Given the description of an element on the screen output the (x, y) to click on. 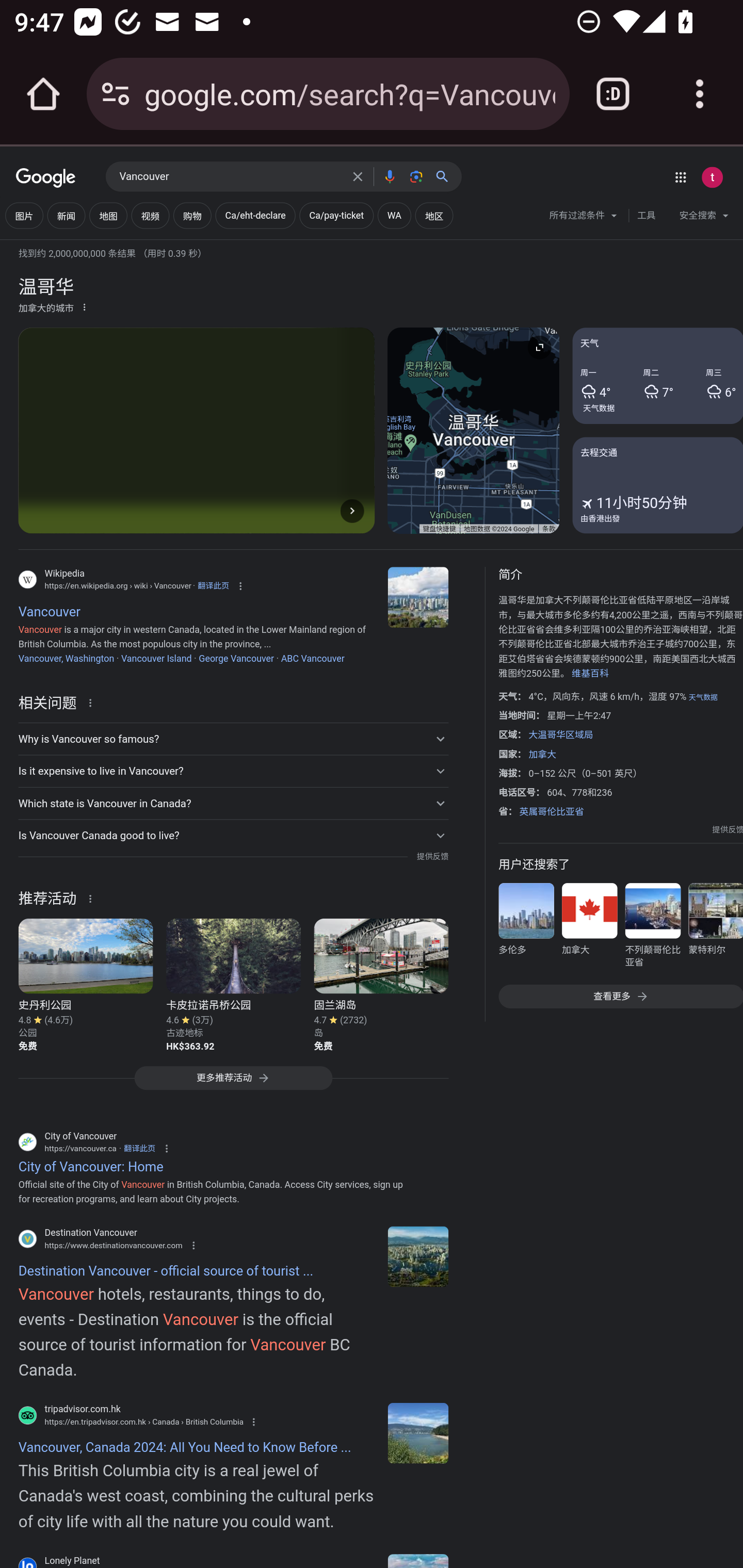
Open the home page (43, 93)
Connection is secure (115, 93)
Switch or close tabs (612, 93)
Customize and control Google Chrome (699, 93)
清除 (357, 176)
按语音搜索 (389, 176)
按图搜索 (415, 176)
搜索 (446, 176)
Google 应用 (680, 176)
Google 账号： test appium (testappium002@gmail.com) (712, 176)
Google (45, 178)
Vancouver (229, 177)
图片 (24, 215)
新闻 (65, 215)
地图 (107, 215)
视频 (149, 215)
购物 (191, 215)
添加“Ca/eht-declare” Ca/eht-declare (254, 215)
添加“Ca/pay-ticket” Ca/pay-ticket (336, 215)
添加“WA” WA (393, 215)
添加“地区” 地区 (433, 215)
所有过滤条件 (583, 217)
工具 (646, 215)
安全搜索 (703, 217)
更多选项 (84, 306)
天气 周一 高温 4 度 周二 高温 7 度 周三 高温 6 度 (657, 375)
展开地图 (539, 346)
天气数据 (599, 407)
去程交通 11小时50分钟 乘坐飞机 由香港出發 (657, 484)
下一张图片 (352, 510)
Vancouver (417, 597)
翻译此页 (212, 585)
Vancouver, Washington (65, 658)
Vancouver Island (155, 658)
George Vancouver (236, 658)
ABC Vancouver (312, 658)
维基百科 (590, 672)
天气数据 (703, 697)
关于这条结果的详细信息 (93, 701)
Why is Vancouver so famous? (232, 738)
大温哥华区域局 (560, 734)
加拿大 (541, 753)
Is it expensive to live in Vancouver? (232, 770)
Which state is Vancouver in Canada? (232, 803)
英属哥伦比亚省 (551, 810)
Is Vancouver Canada good to live? (232, 835)
提供反馈 (727, 829)
提供反馈 (432, 856)
多伦多 (526, 927)
加拿大 (588, 927)
不列颠哥伦比亚省 (652, 927)
蒙特利尔 (715, 927)
关于这条结果的详细信息 (93, 897)
查看更多 查看更多 查看更多 (620, 996)
更多推荐活动 (232, 1082)
翻译此页 (139, 1148)
www.destinationvancouver (417, 1256)
